Given the description of an element on the screen output the (x, y) to click on. 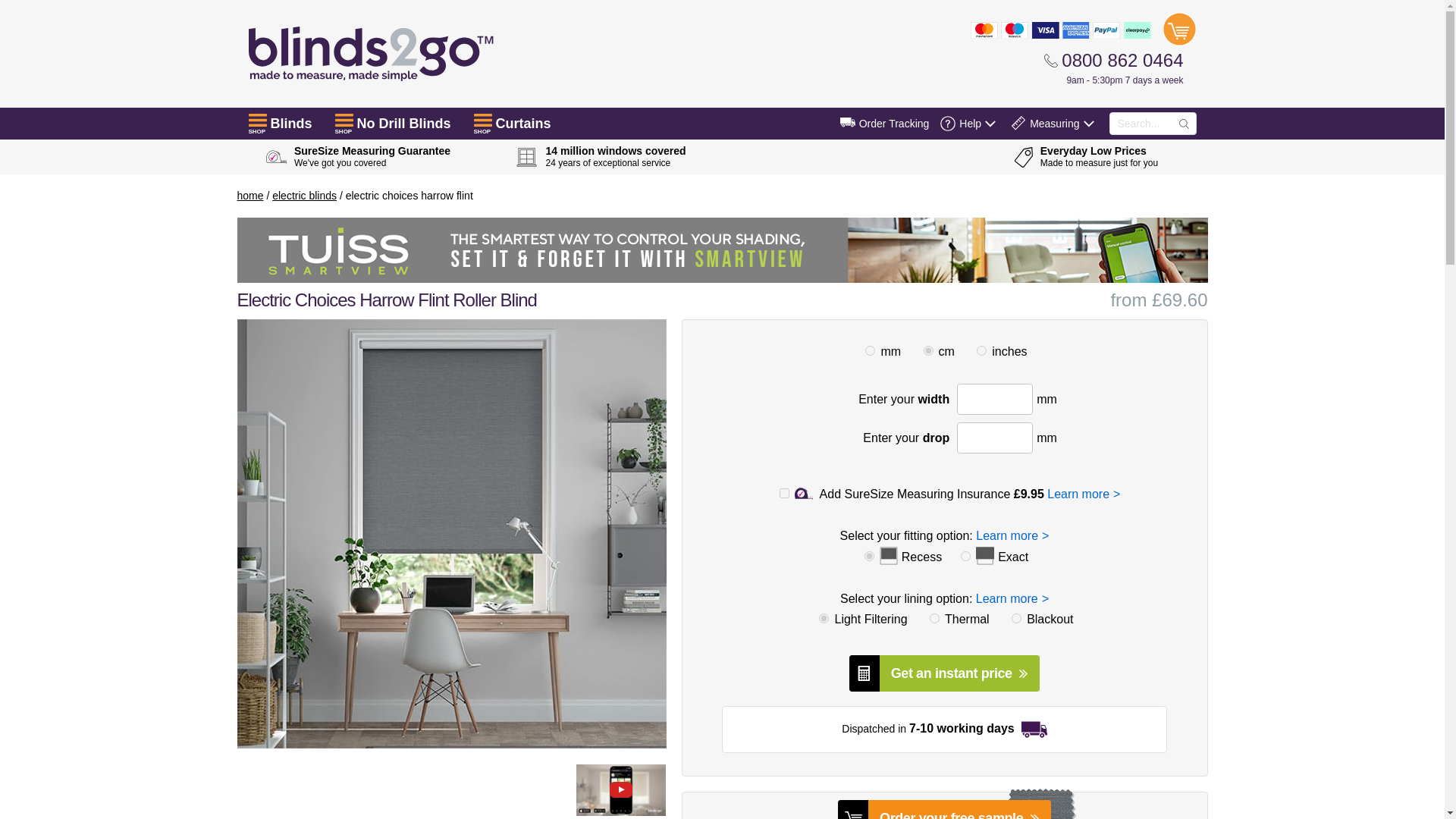
white down arrow icon (990, 122)
E (965, 556)
3 (928, 350)
0800 862 0464 (1112, 60)
240 (807, 623)
R (869, 556)
241 (1000, 623)
burger icon (483, 119)
burger icon (343, 119)
burger icon (257, 119)
white down arrow icon (1088, 122)
2 (981, 350)
delivery icon (848, 121)
242 (917, 623)
1 (869, 350)
